Given the description of an element on the screen output the (x, y) to click on. 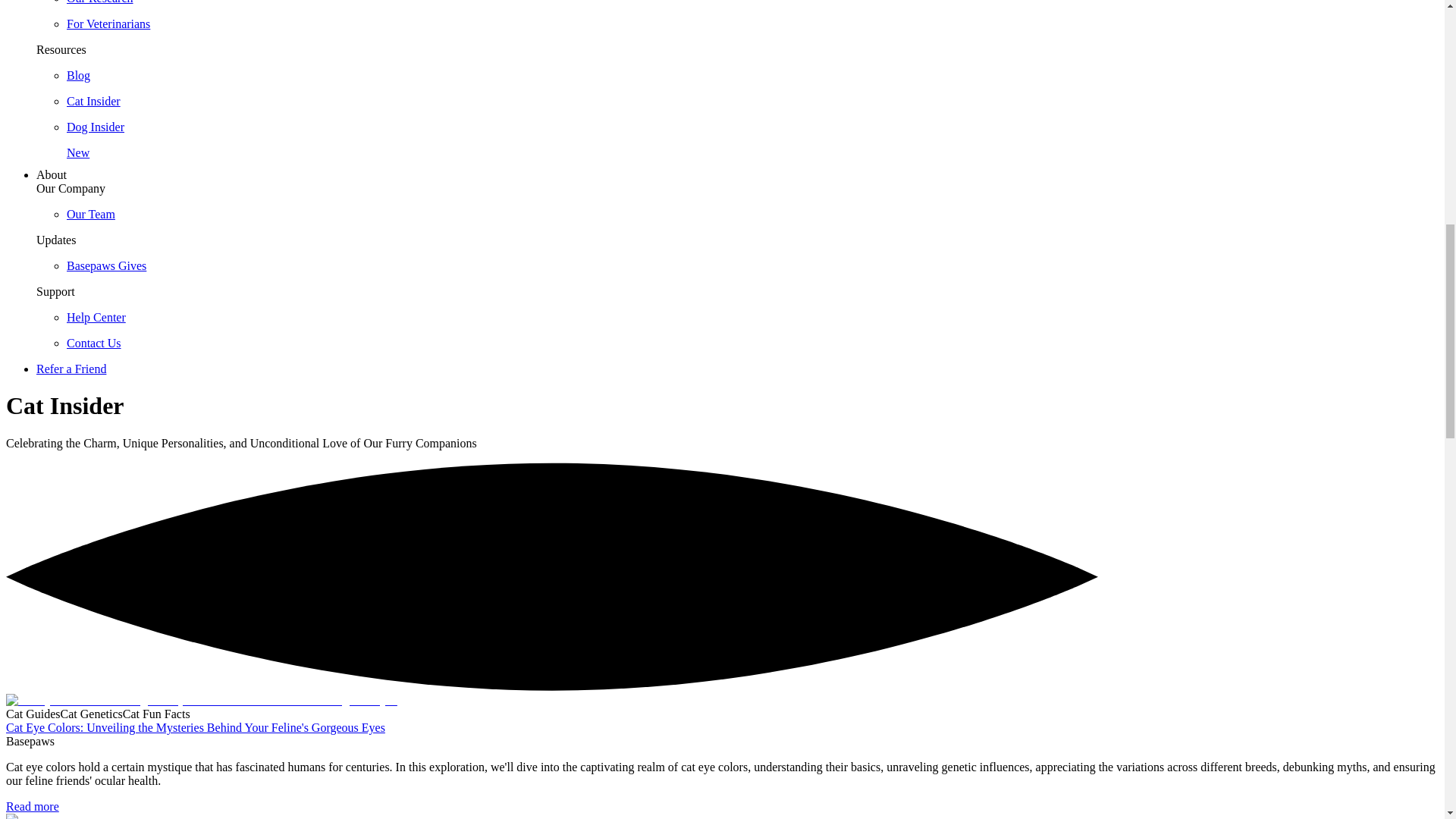
Read more (32, 806)
